Given the description of an element on the screen output the (x, y) to click on. 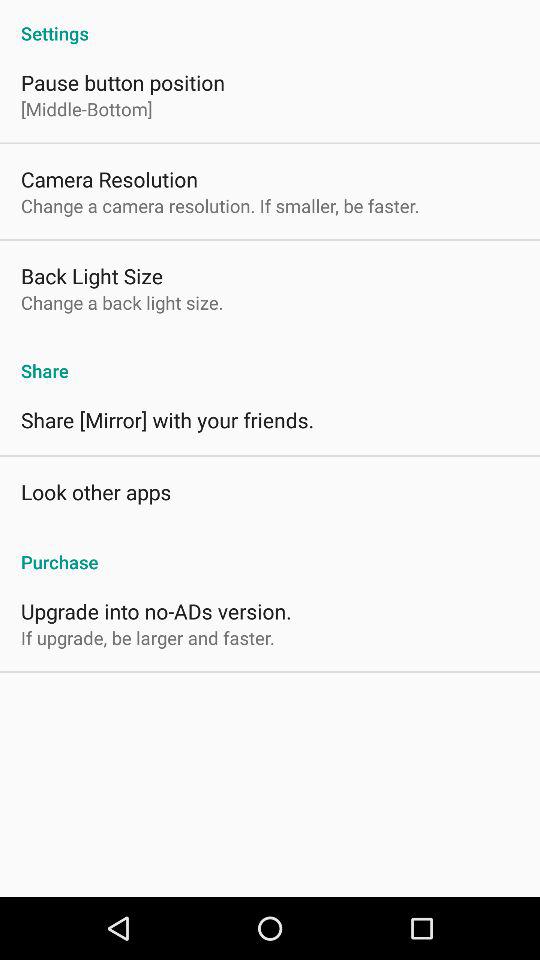
click the upgrade into no item (156, 610)
